Given the description of an element on the screen output the (x, y) to click on. 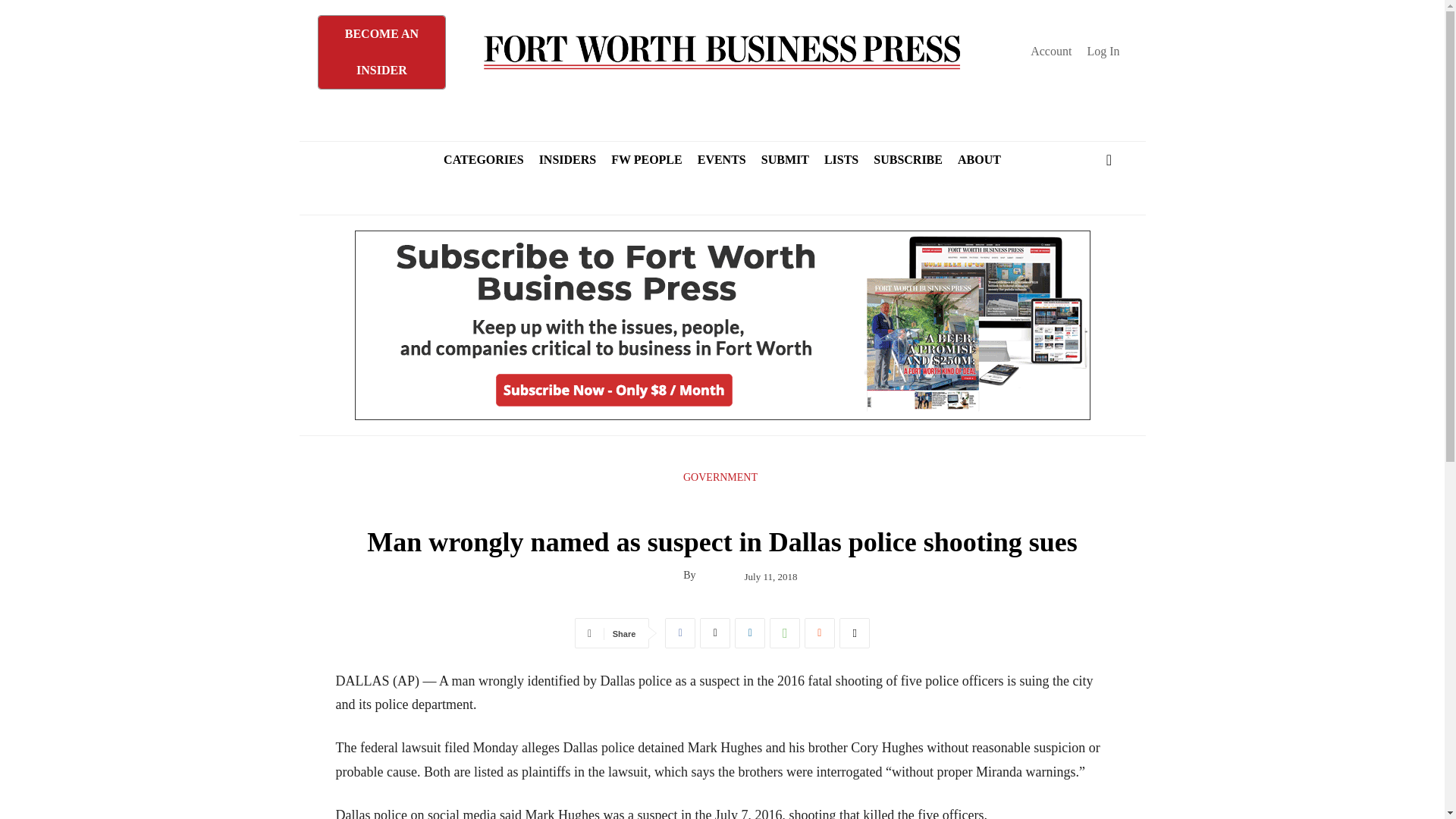
Twitter (715, 633)
Linkedin (750, 633)
Facebook (680, 633)
